Given the description of an element on the screen output the (x, y) to click on. 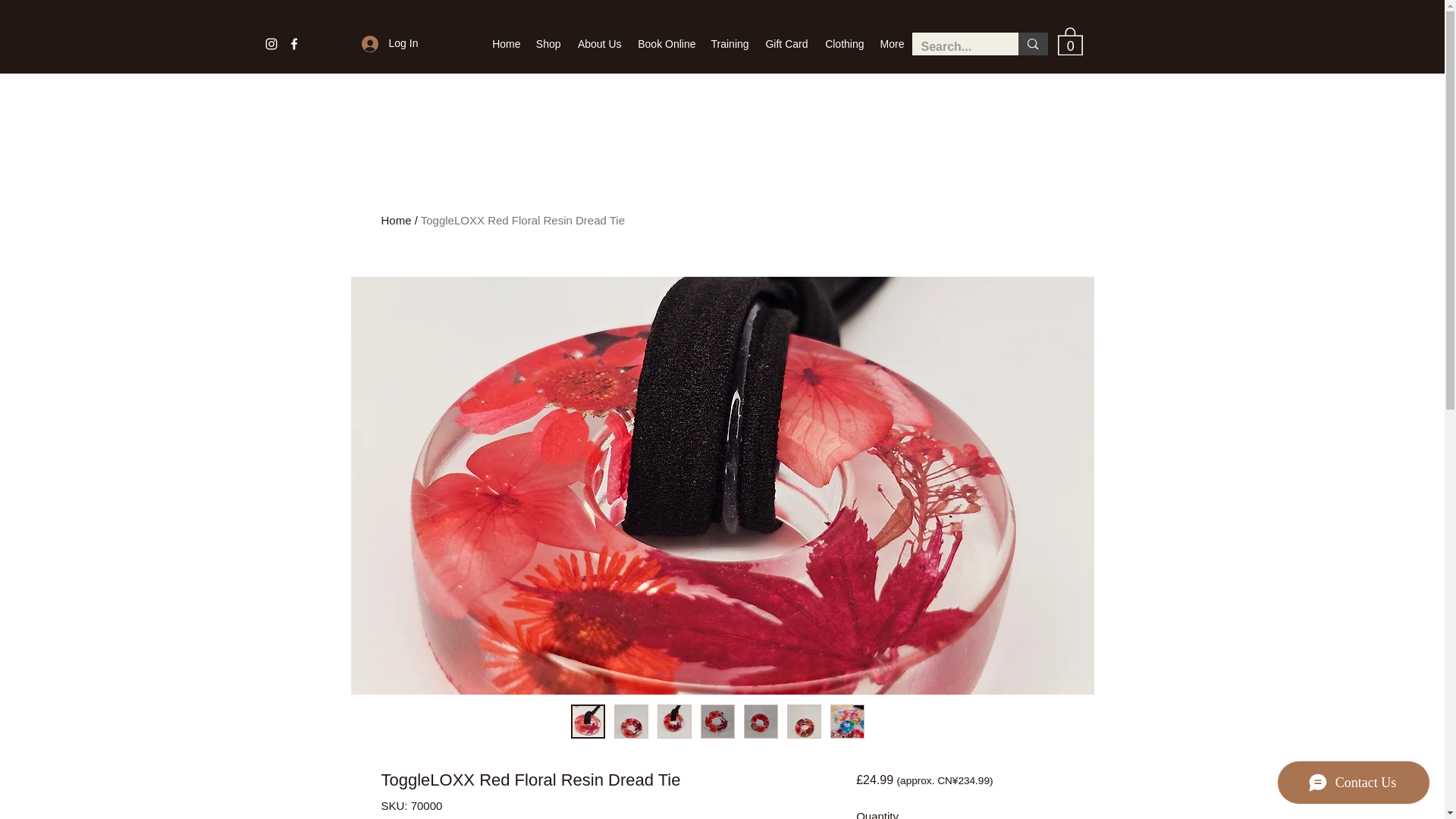
Log In (367, 43)
About Us (598, 43)
Gift Card (786, 43)
Book Online (665, 43)
Training (730, 43)
Clothing (843, 43)
Home (505, 43)
Shop (547, 43)
